Given the description of an element on the screen output the (x, y) to click on. 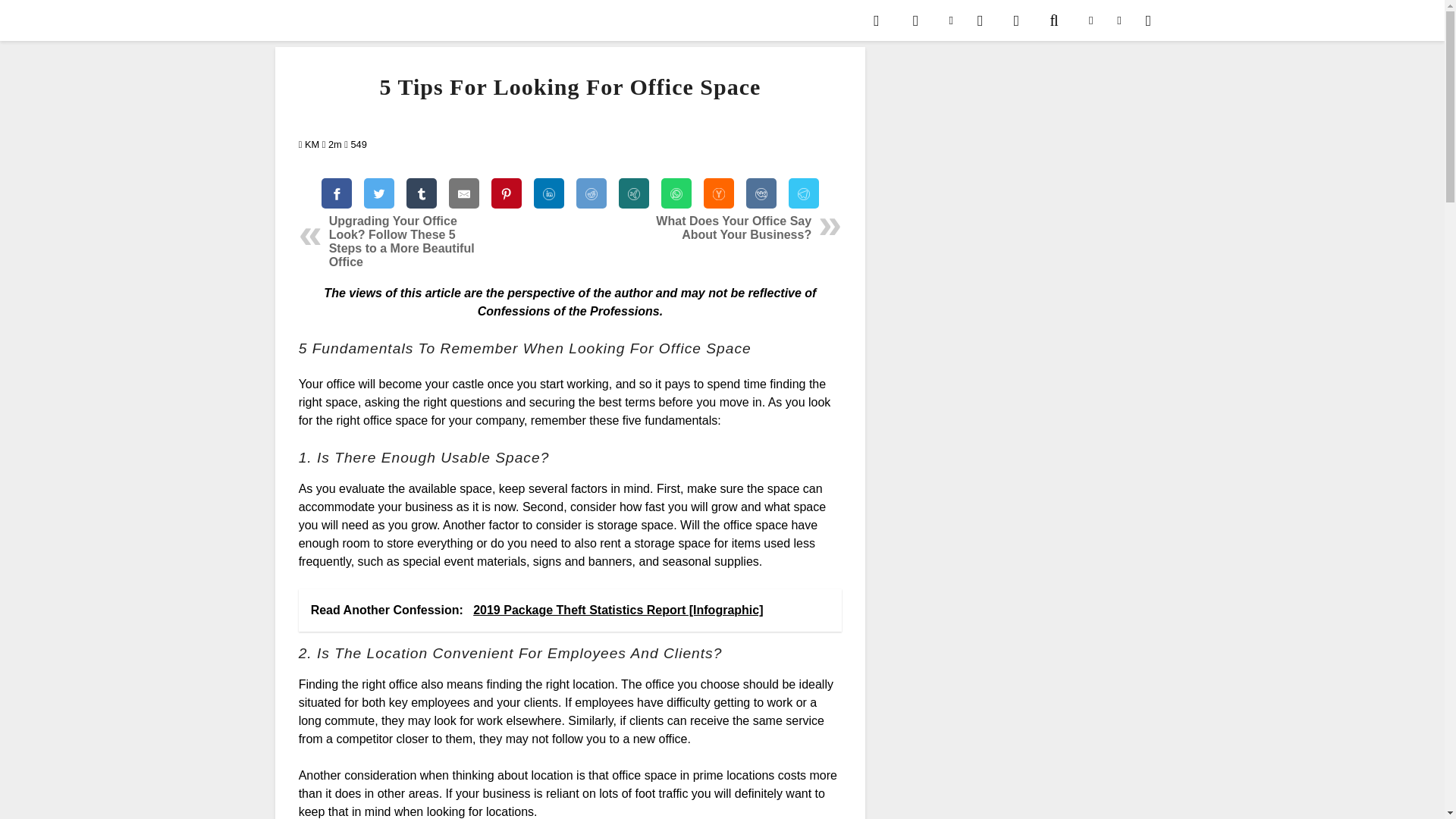
Home (881, 20)
Search Confessions (1055, 20)
What Does Your Office Say About Your Business? (733, 227)
Explanation of the navigation menu (1152, 20)
